Given the description of an element on the screen output the (x, y) to click on. 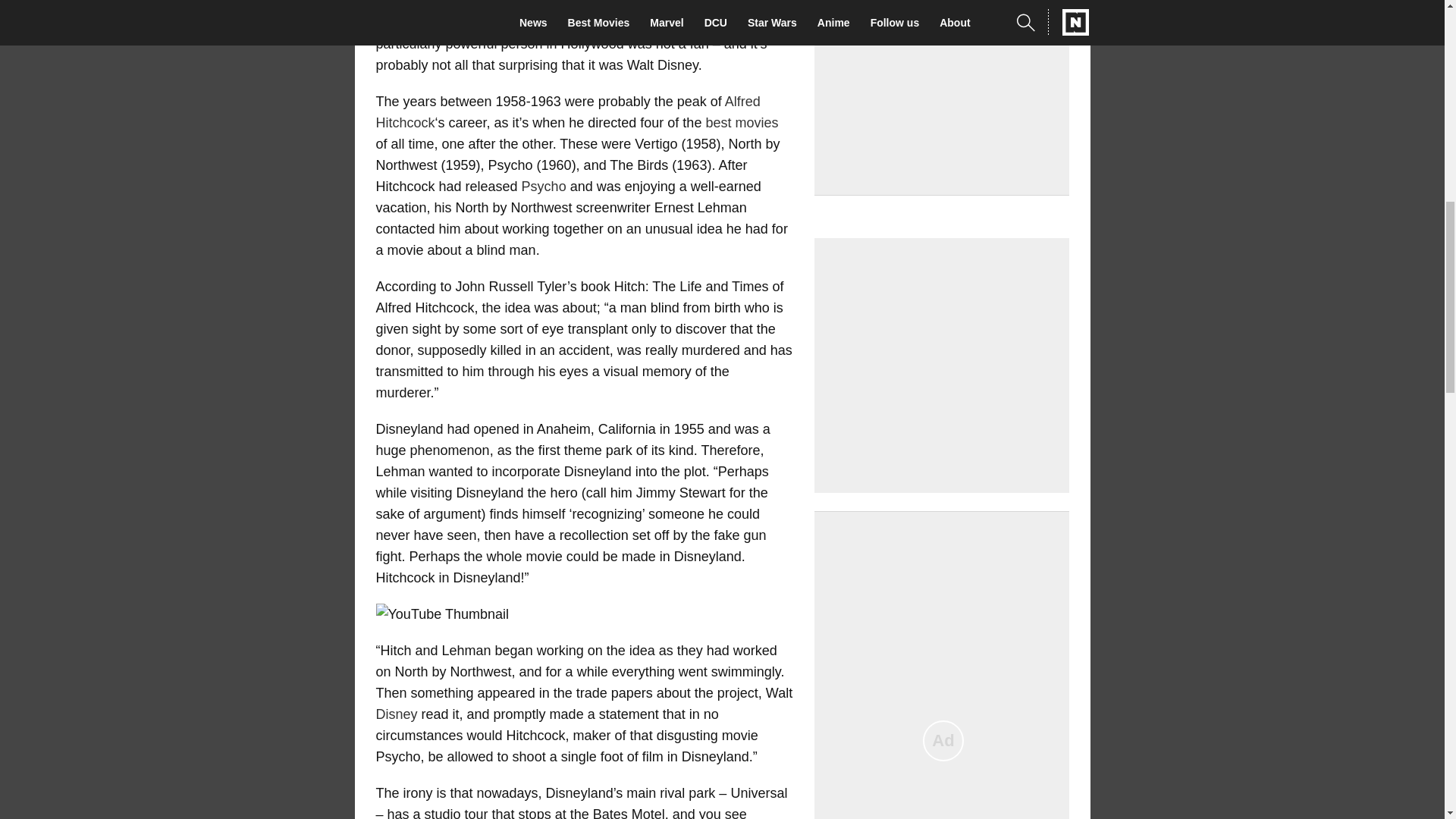
Disney (396, 807)
Psycho (543, 142)
Alfred Hitchcock (567, 84)
best movies (740, 92)
